Given the description of an element on the screen output the (x, y) to click on. 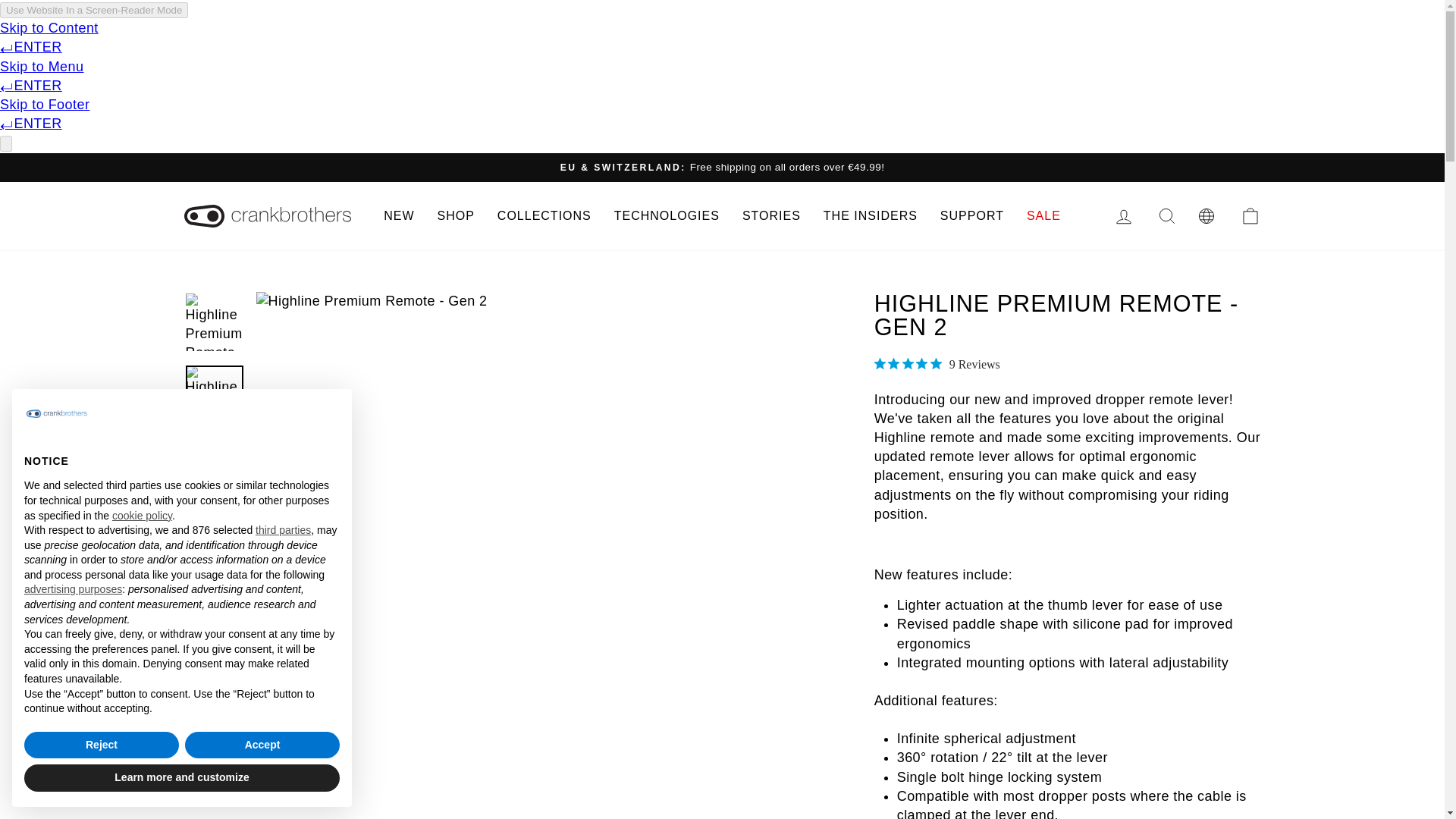
9 Reviews (937, 364)
